Given the description of an element on the screen output the (x, y) to click on. 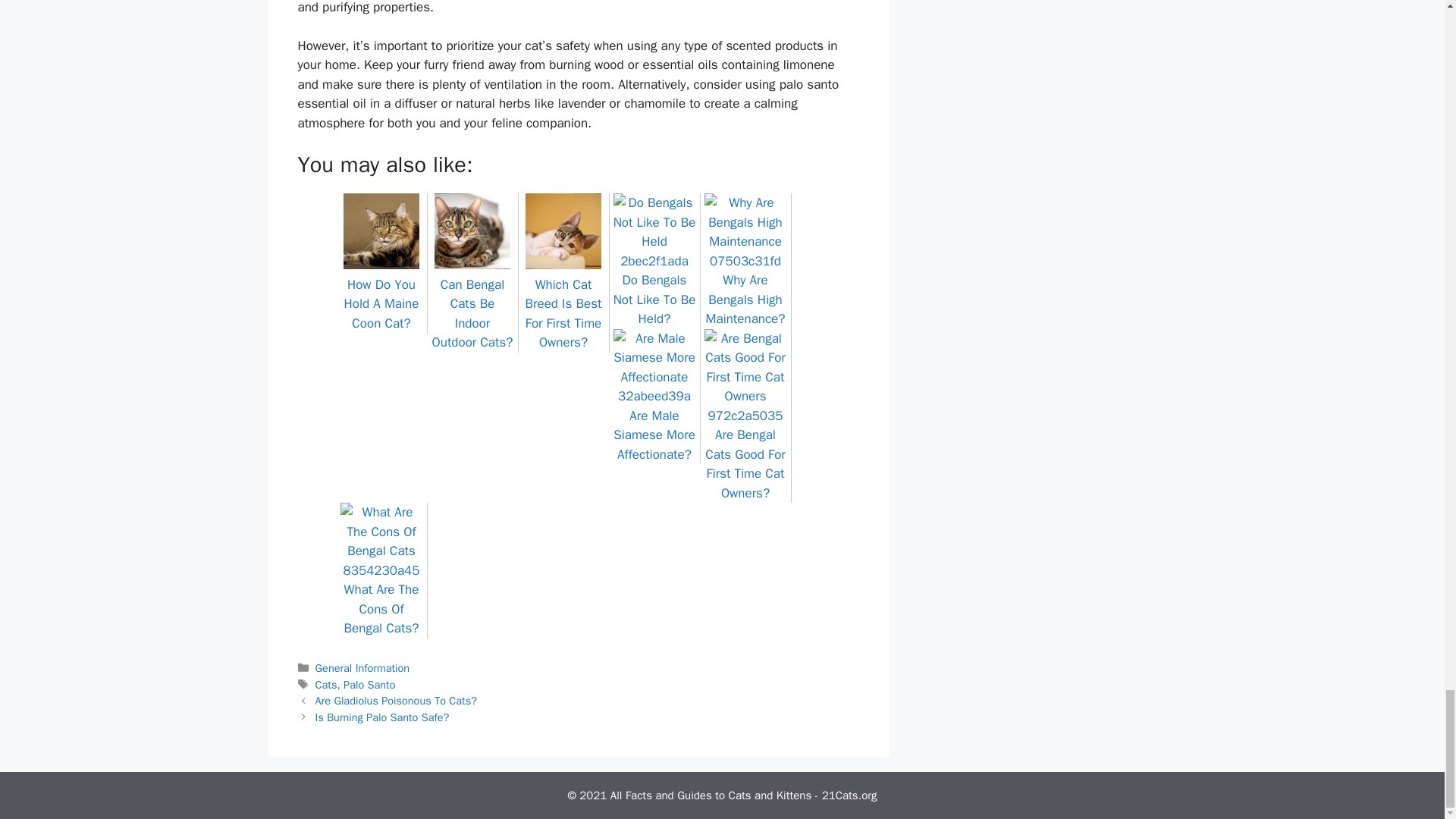
Is Burning Palo Santo Safe? (382, 716)
How Do You Hold A Maine Coon Cat? (381, 294)
Which Cat Breed Is Best For First Time Owners? 3 (563, 231)
Do Bengals Not Like To Be Held? (653, 290)
How Do You Hold A Maine Coon Cat? 1 (381, 231)
Do Bengals Not Like To Be Held? 4 (653, 232)
Why Are Bengals High Maintenance? 5 (744, 232)
Are Gladiolus Poisonous To Cats? (396, 700)
Why Are Bengals High Maintenance? (744, 290)
What Are The Cons Of Bengal Cats? (380, 599)
